Given the description of an element on the screen output the (x, y) to click on. 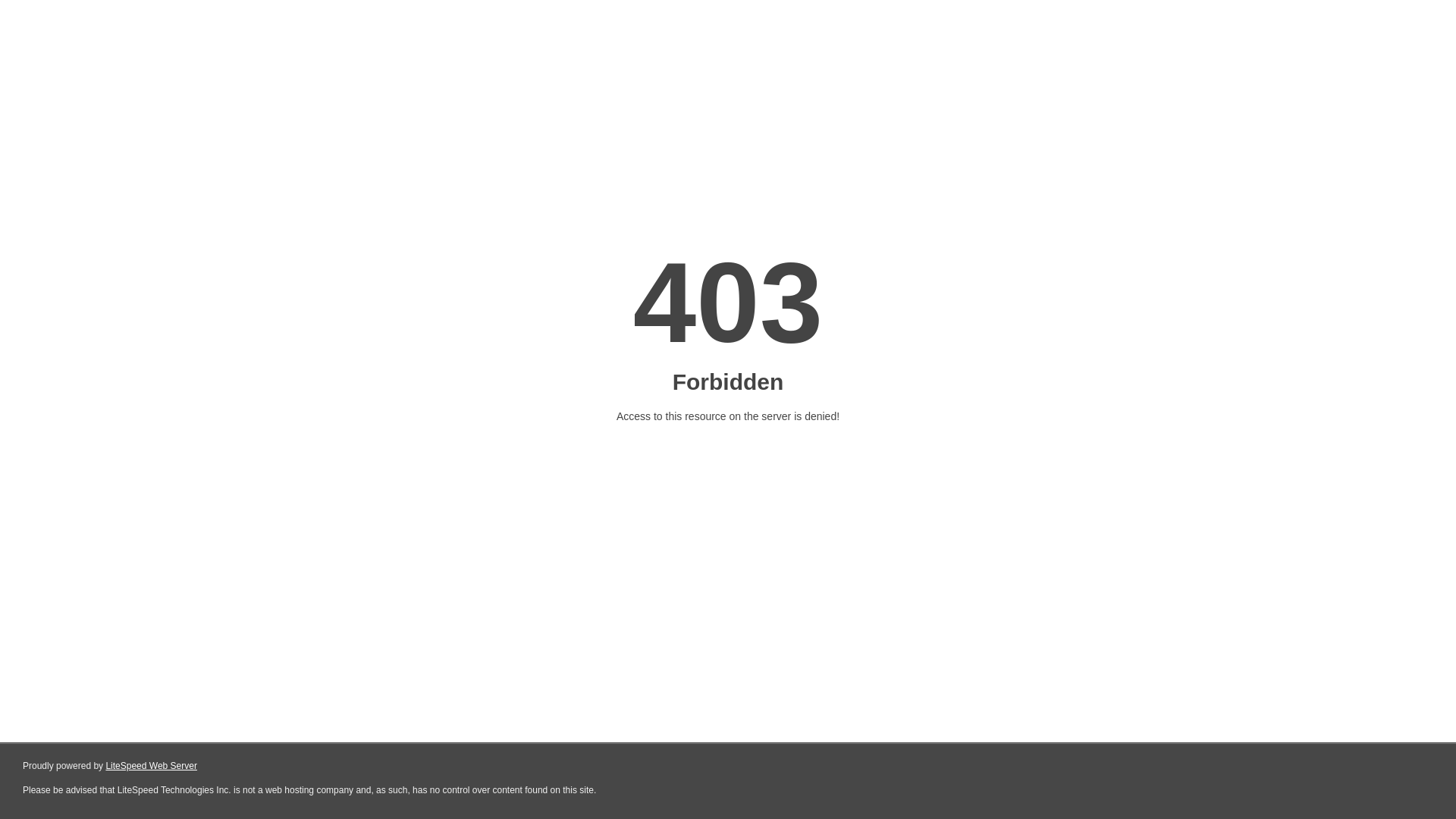
LiteSpeed Web Server Element type: text (151, 765)
